Given the description of an element on the screen output the (x, y) to click on. 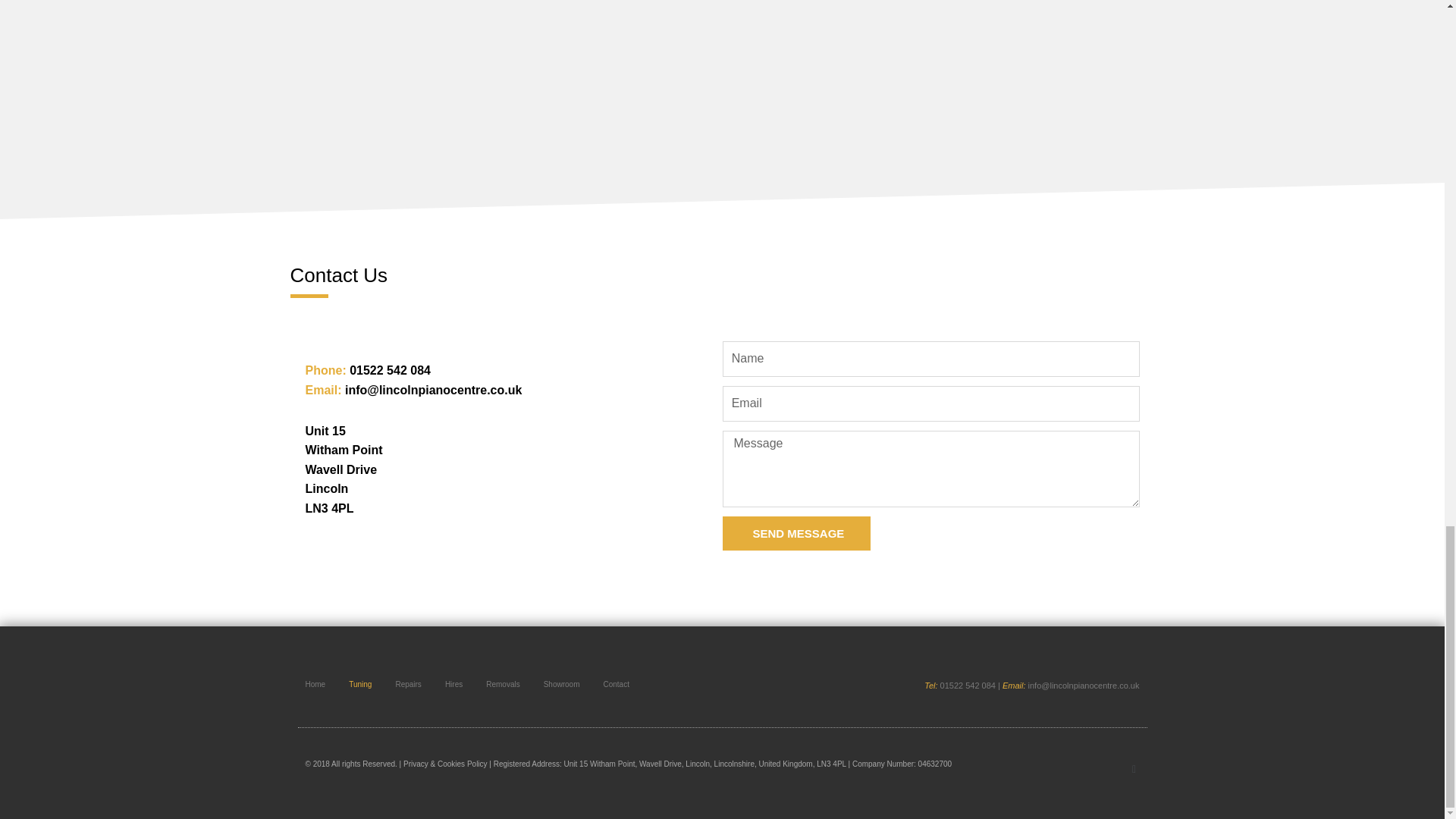
Showroom (561, 684)
Removals (502, 684)
SEND MESSAGE (796, 533)
